Given the description of an element on the screen output the (x, y) to click on. 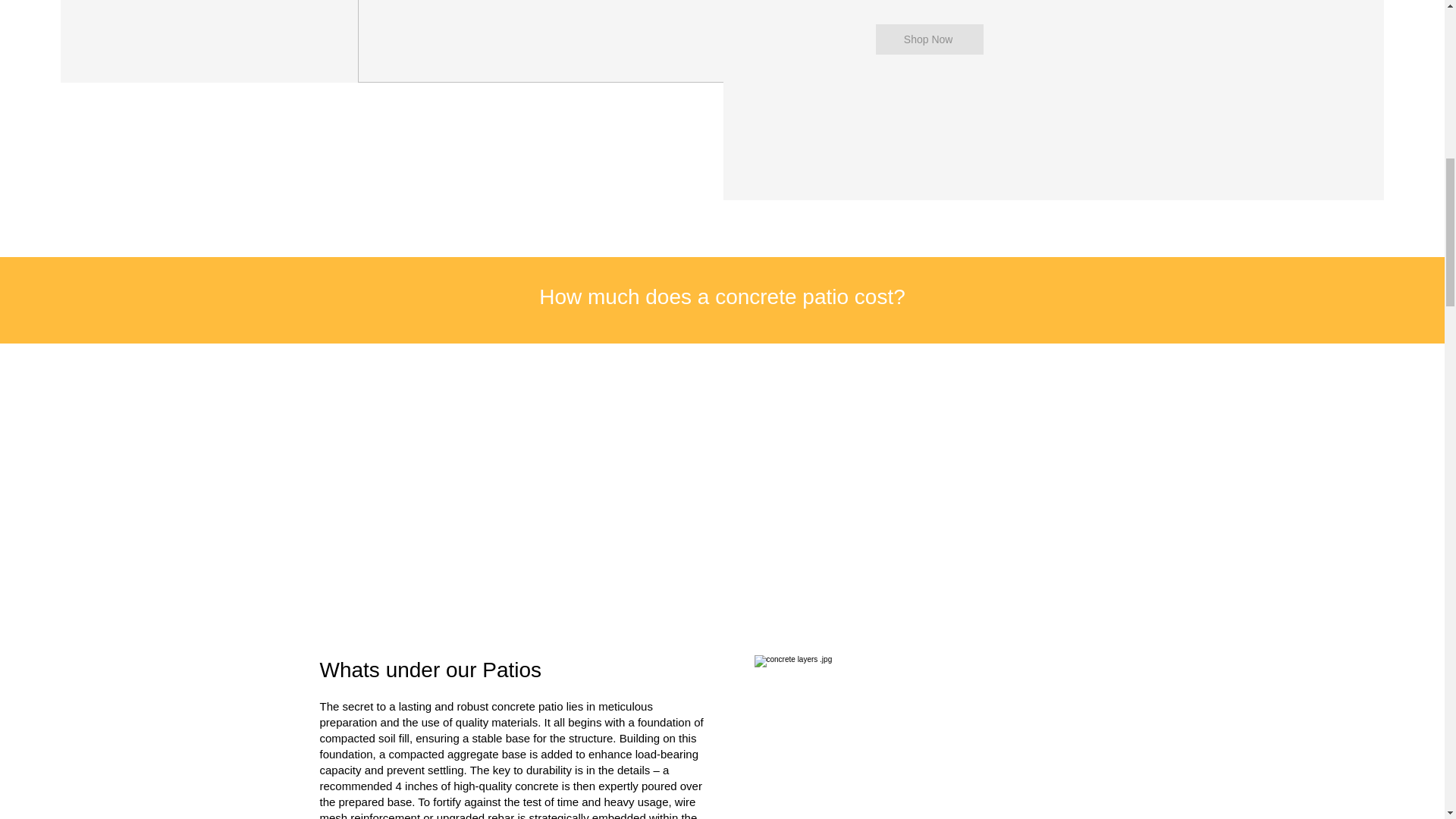
Shop Now (930, 39)
